Given the description of an element on the screen output the (x, y) to click on. 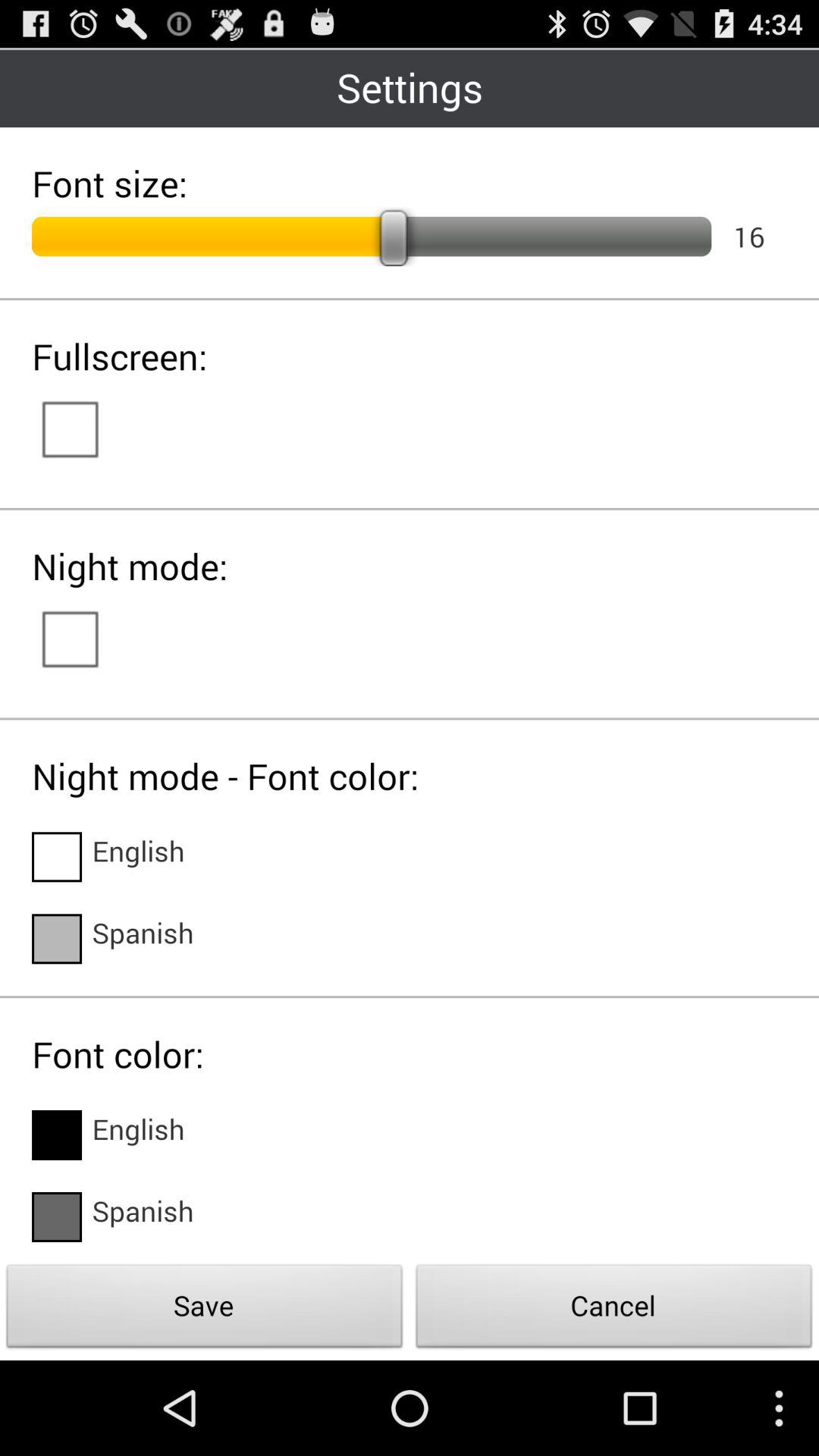
open icon to the right of the save icon (614, 1310)
